Given the description of an element on the screen output the (x, y) to click on. 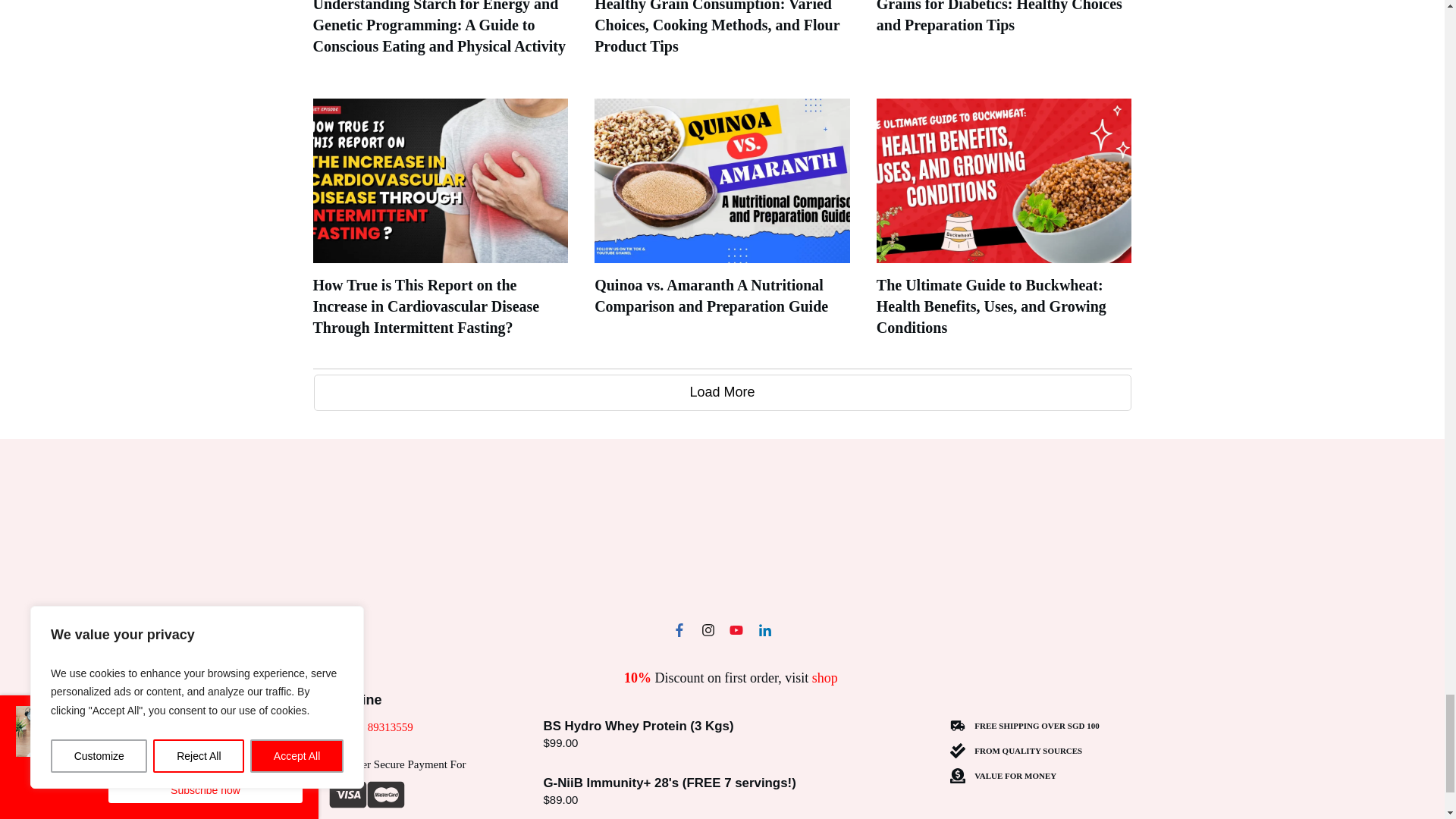
Grains for Diabetics: Healthy Choices and Preparation Tips (999, 16)
